Given the description of an element on the screen output the (x, y) to click on. 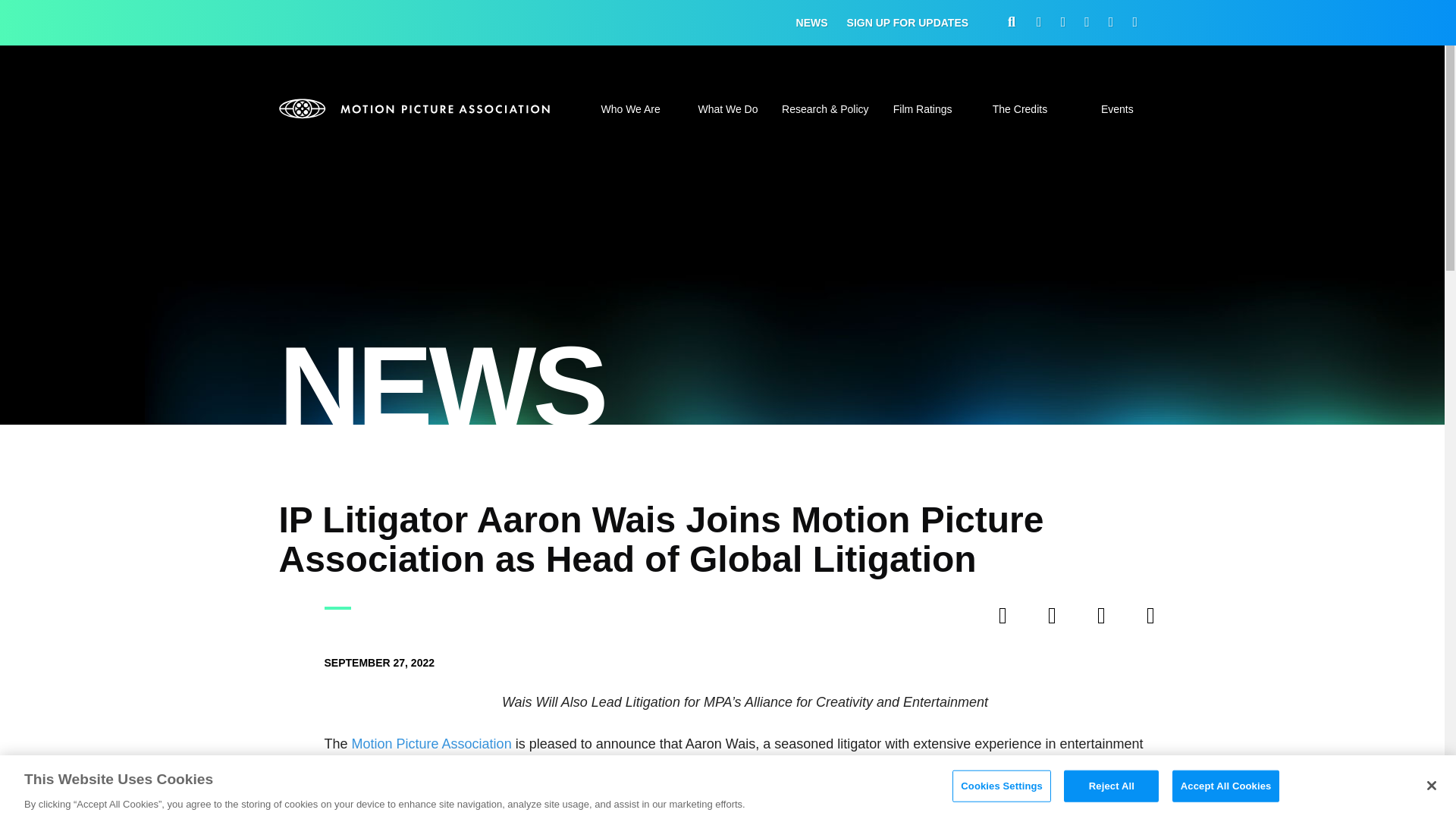
Who We Are (629, 117)
mpa-banner-bt (415, 108)
NEWS (812, 22)
mpa-banner-bt (415, 108)
SIGN UP FOR UPDATES (908, 22)
Search (1077, 408)
